Given the description of an element on the screen output the (x, y) to click on. 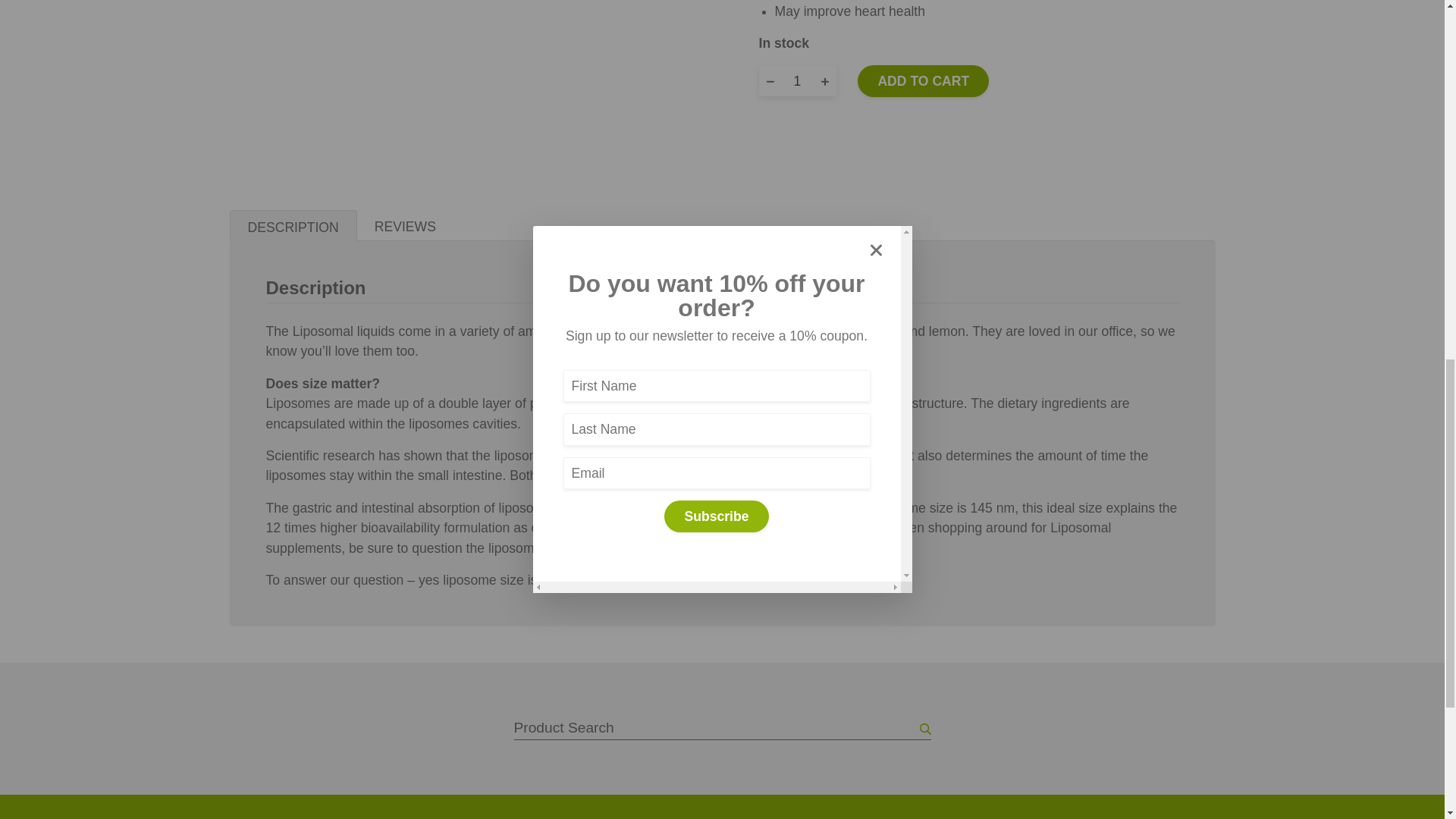
ADD TO CART (922, 81)
1 (796, 81)
